Given the description of an element on the screen output the (x, y) to click on. 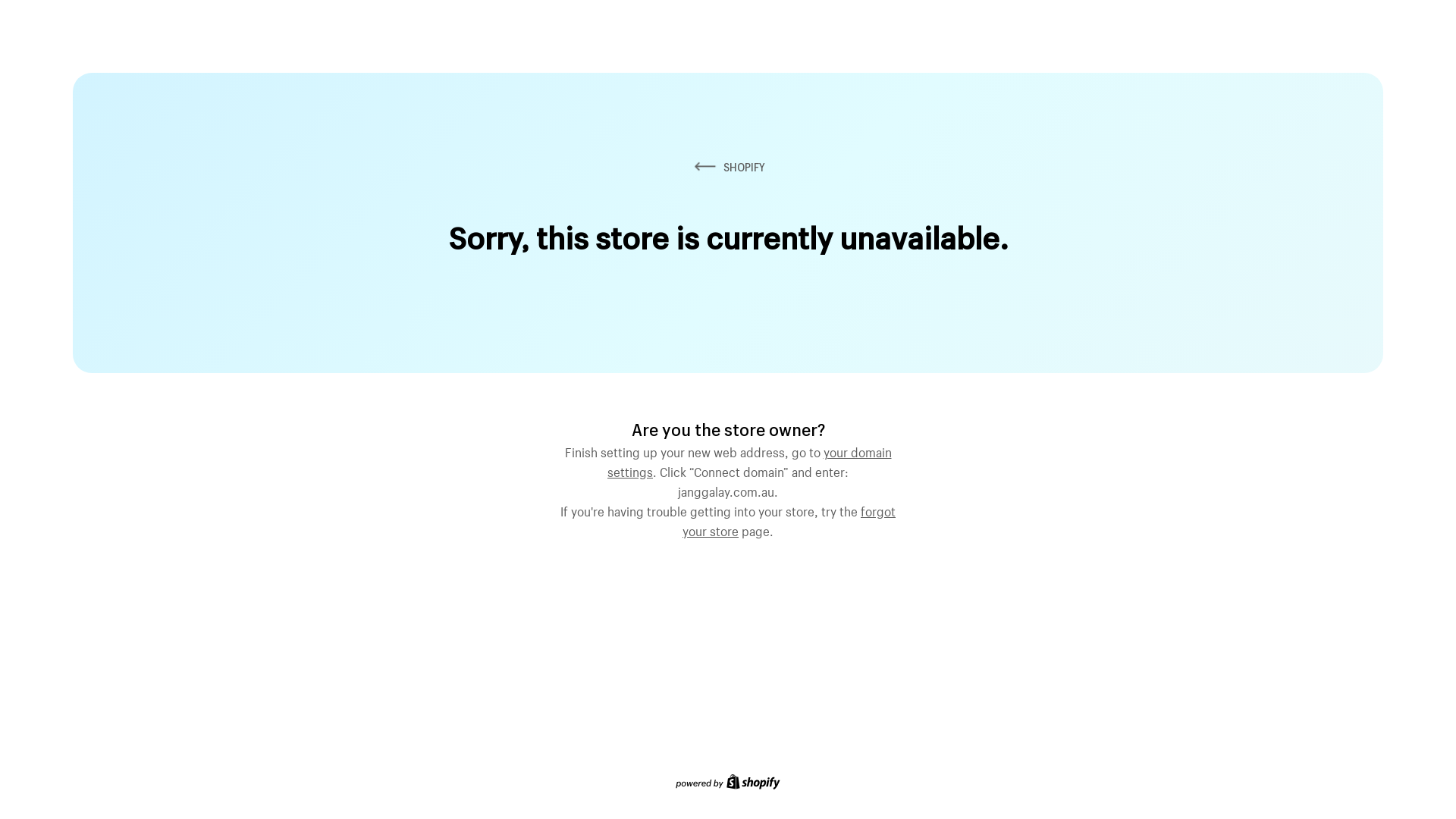
SHOPIFY Element type: text (727, 167)
your domain settings Element type: text (749, 460)
forgot your store Element type: text (788, 519)
